Given the description of an element on the screen output the (x, y) to click on. 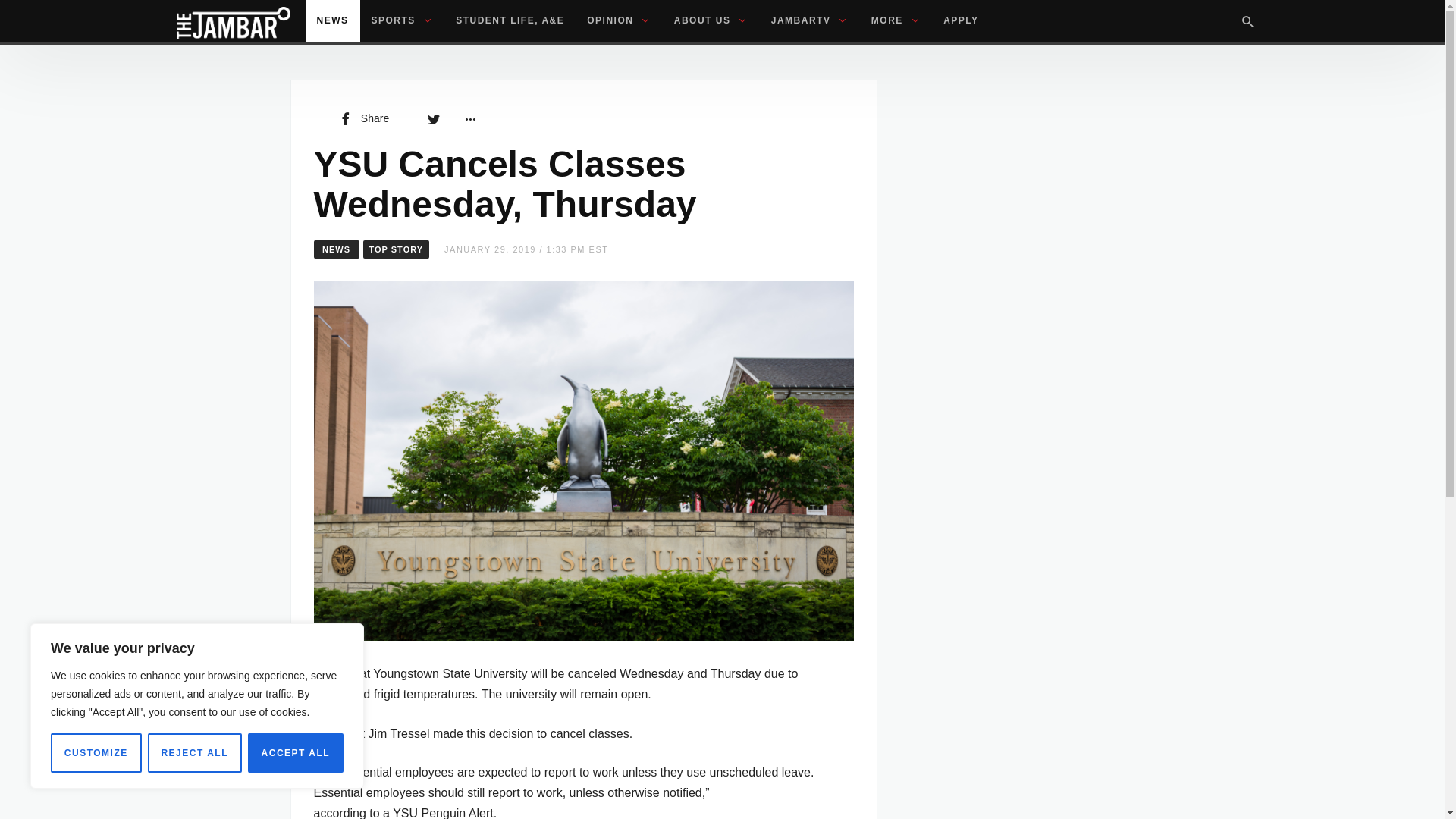
REJECT ALL (194, 753)
OPINION (618, 20)
JAMBARTV (810, 20)
Share on Facebook (363, 118)
CUSTOMIZE (95, 753)
SPORTS (401, 20)
More (469, 118)
MORE (895, 20)
ACCEPT ALL (295, 753)
ABOUT US (711, 20)
View all posts in Top Story (395, 249)
Share on Twitter (433, 118)
NEWS (331, 20)
View all posts in News (336, 249)
